Given the description of an element on the screen output the (x, y) to click on. 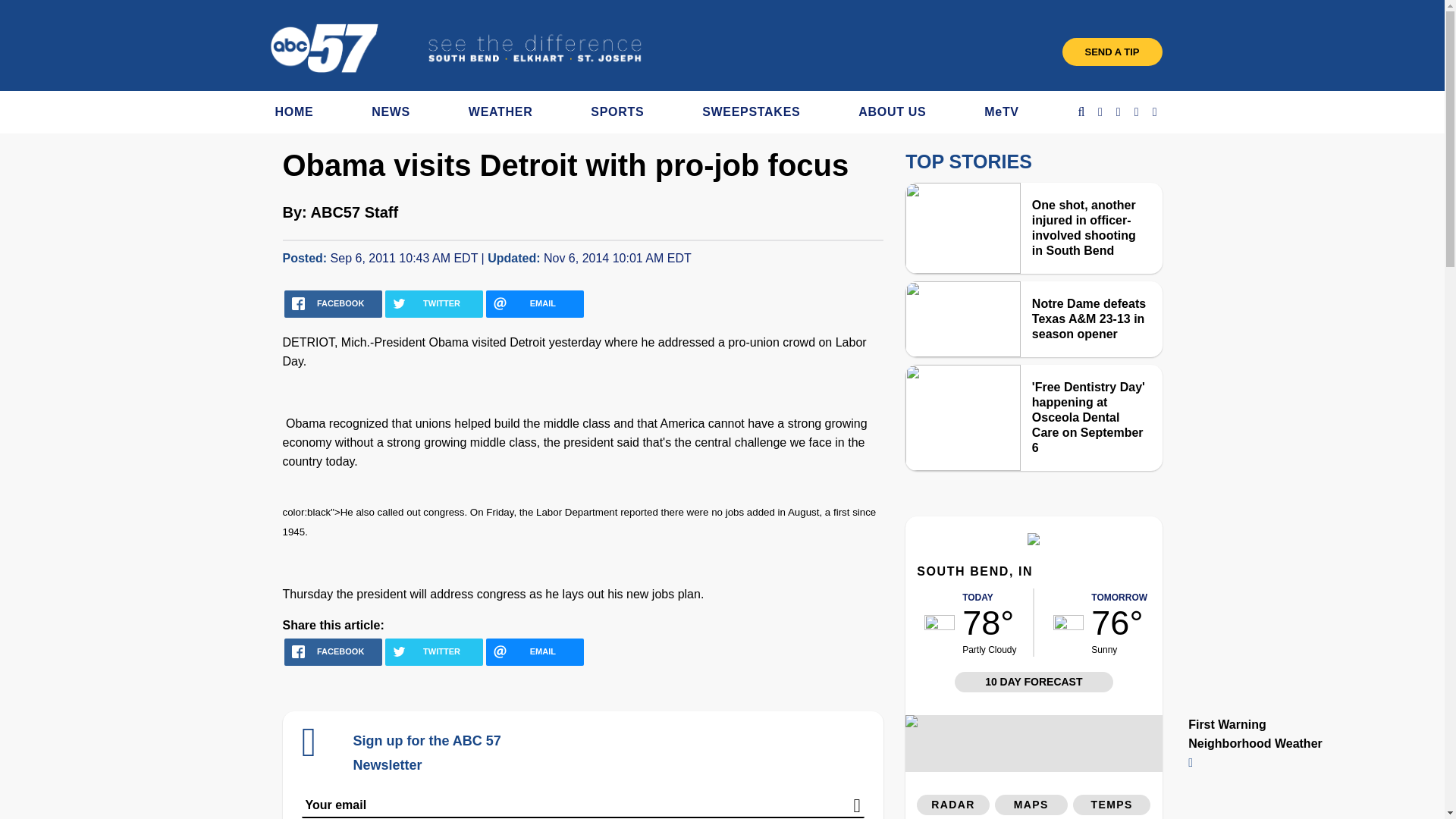
Weather (1033, 540)
weather (1067, 622)
weather (939, 622)
